Given the description of an element on the screen output the (x, y) to click on. 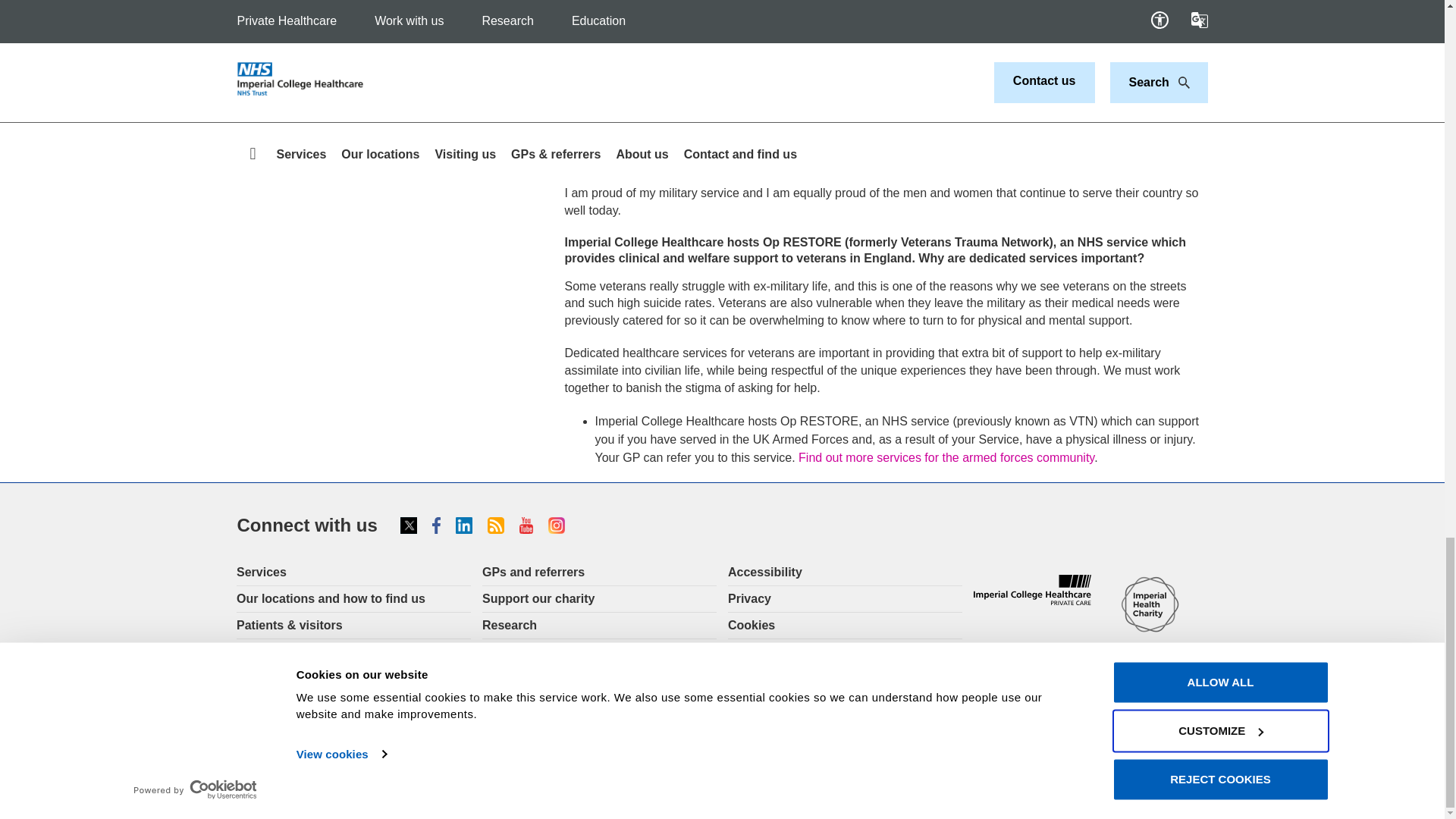
Imperial Private healthcare (1032, 590)
NHS Choices (1149, 694)
charity alternate (1149, 604)
